Given the description of an element on the screen output the (x, y) to click on. 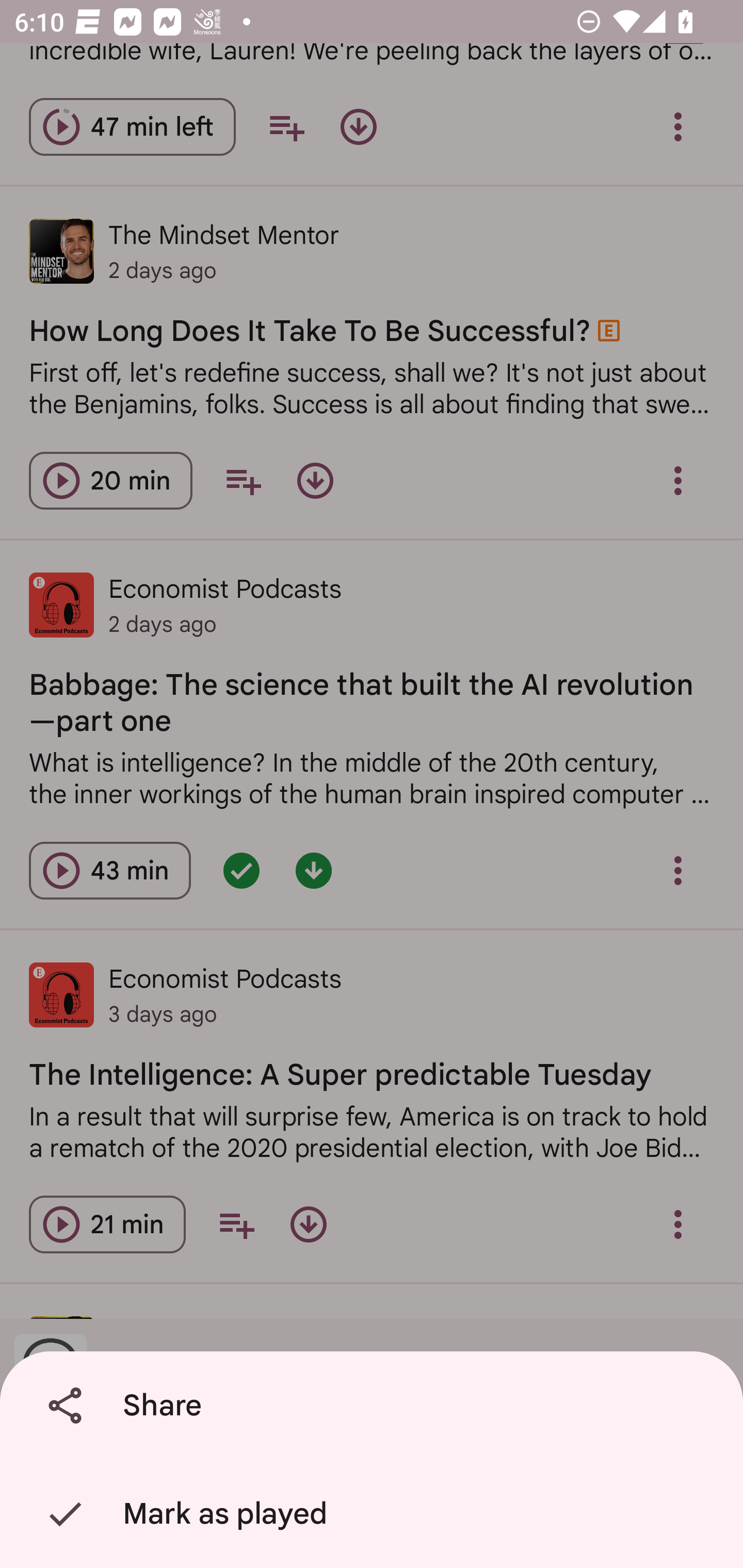
Share (375, 1405)
Mark as played (375, 1513)
